Given the description of an element on the screen output the (x, y) to click on. 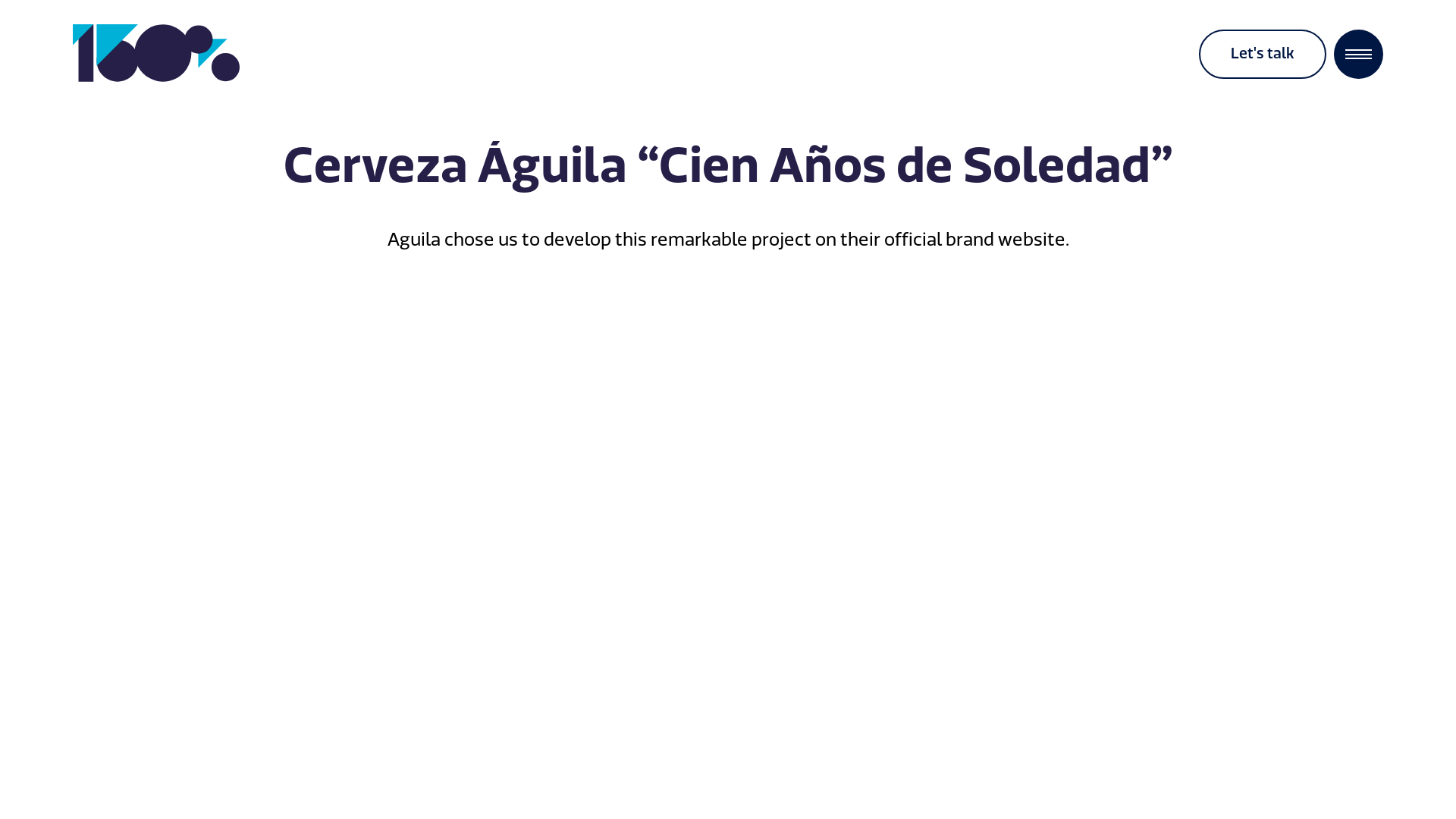
Let's talk Element type: text (1262, 53)
